Given the description of an element on the screen output the (x, y) to click on. 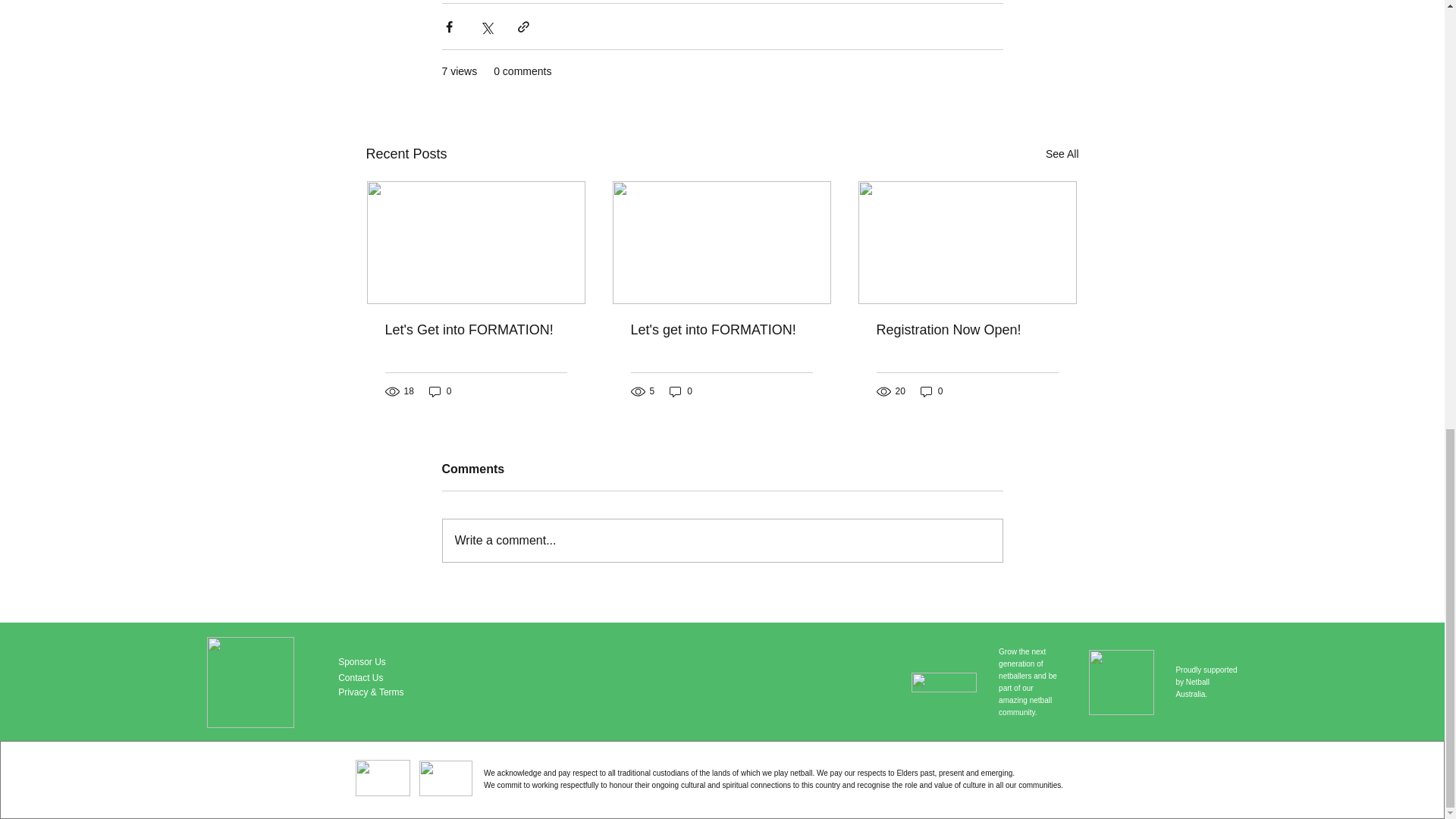
Write a comment... (722, 540)
Sponsor Us (361, 661)
Let's Get into FORMATION! (476, 330)
0 (681, 391)
See All (1061, 154)
Let's get into FORMATION! (721, 330)
0 (931, 391)
Proudly supported by Netball Australia. (1205, 681)
Registration Now Open! (967, 330)
0 (440, 391)
Contact Us (359, 677)
